Given the description of an element on the screen output the (x, y) to click on. 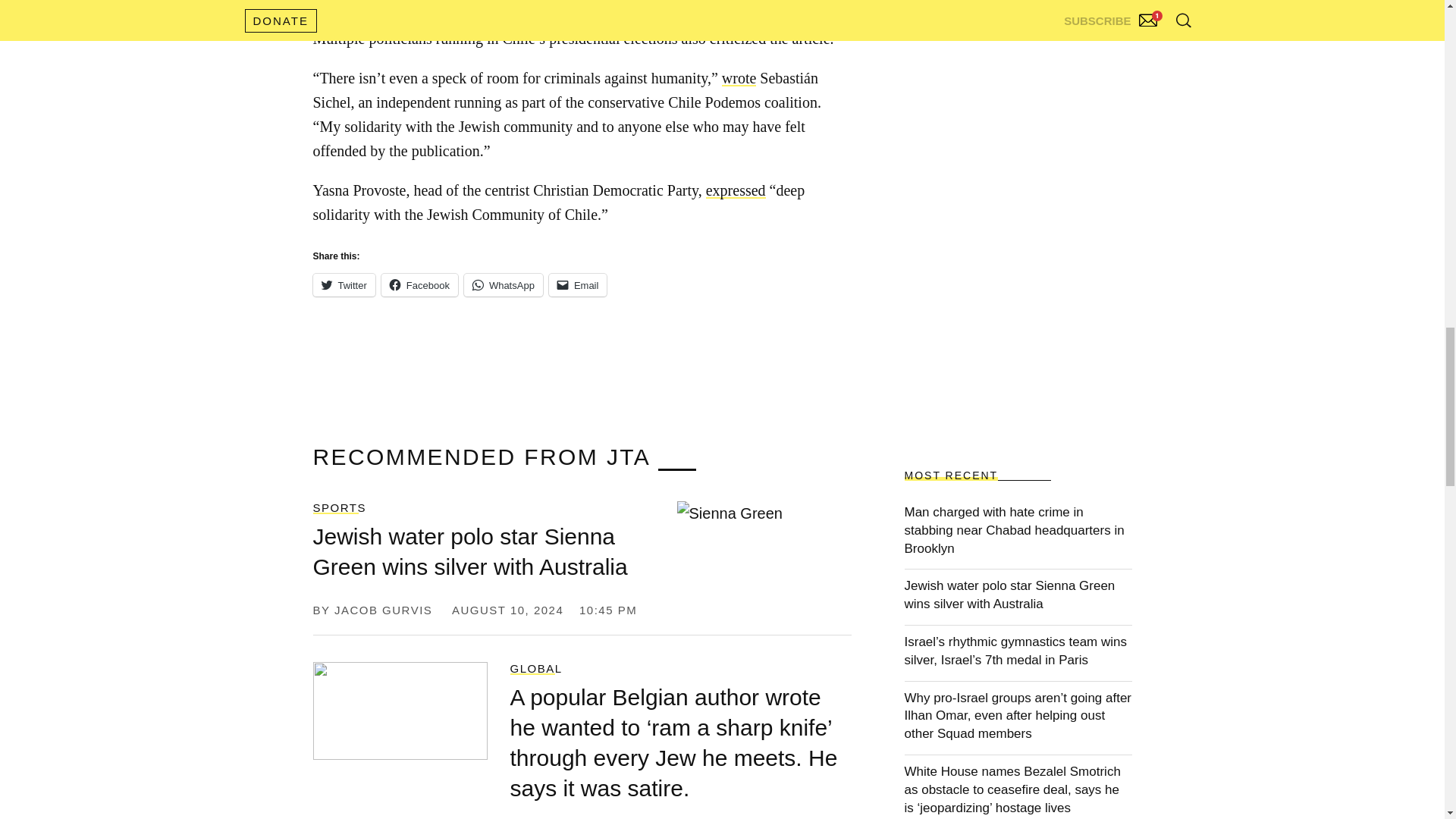
Click to share on Twitter (343, 284)
Click to share on Facebook (419, 284)
Click to email a link to a friend (577, 284)
Click to share on WhatsApp (503, 284)
